Given the description of an element on the screen output the (x, y) to click on. 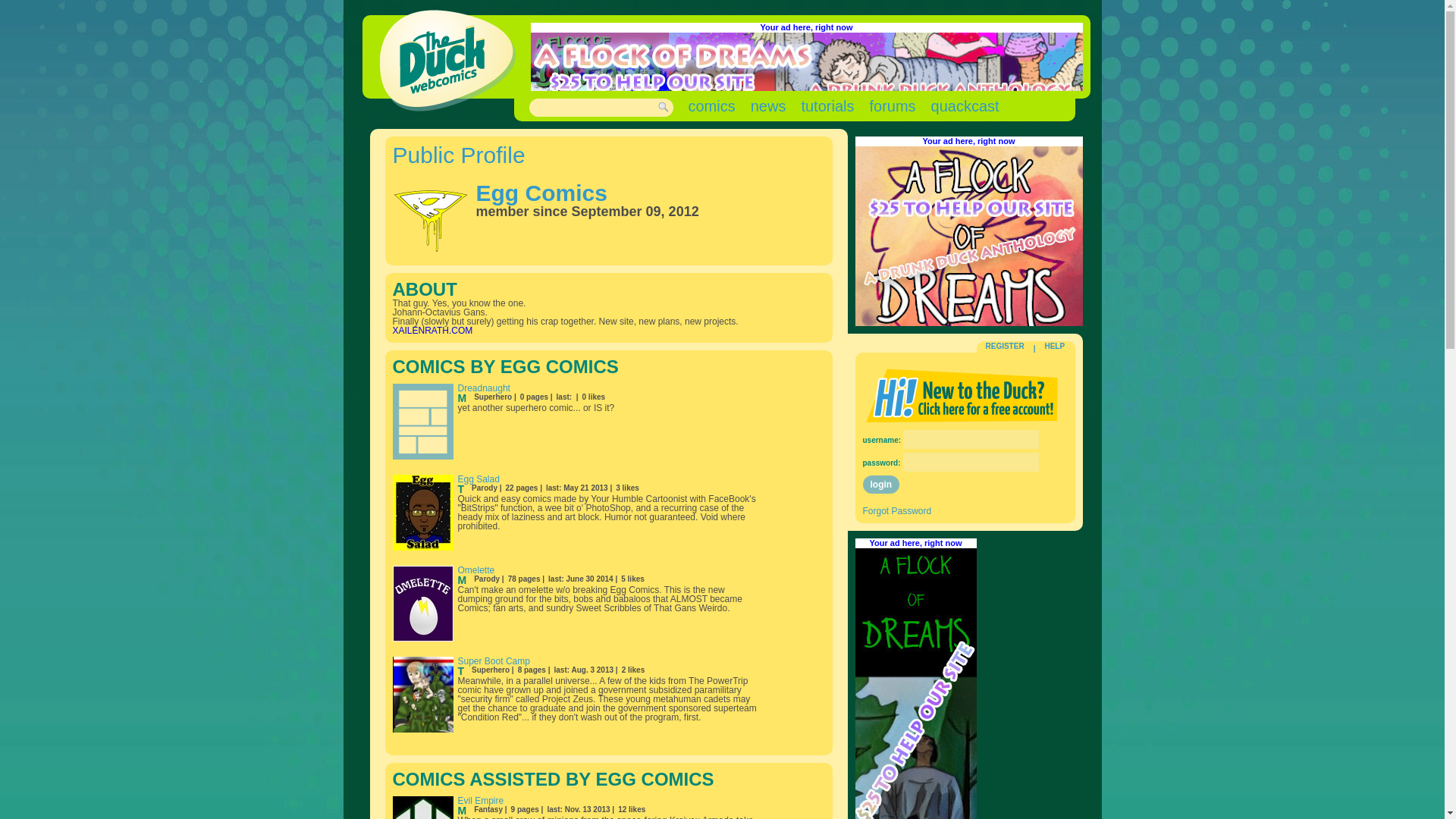
XAILENRATH.COM (433, 330)
Egg Salad (478, 479)
Your ad here, right now (805, 26)
login (881, 484)
news (768, 105)
Omelette (476, 570)
tutorials (826, 105)
quackcast (964, 105)
Super Boot Camp (493, 661)
forums (892, 105)
